Given the description of an element on the screen output the (x, y) to click on. 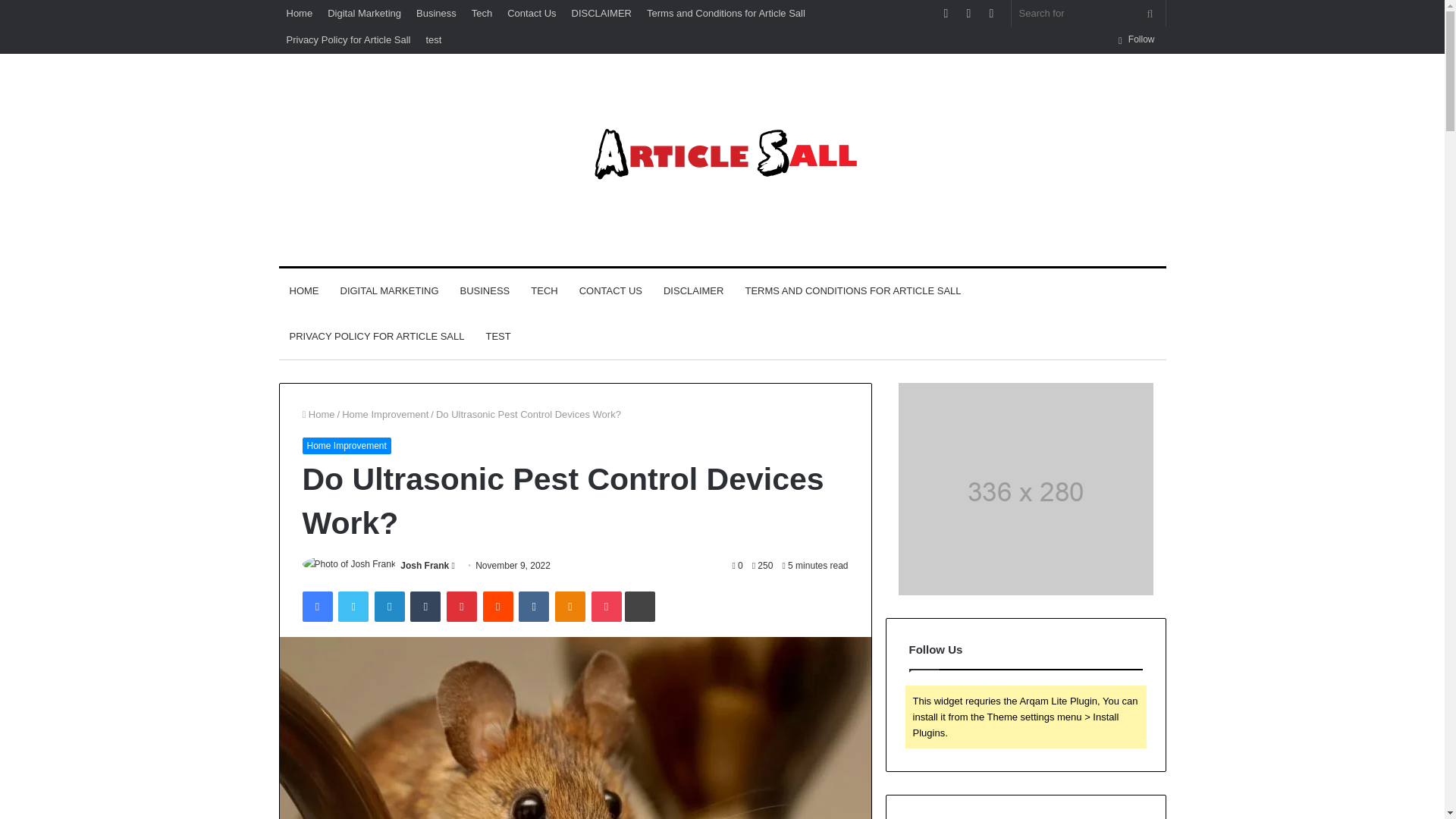
TECH (543, 290)
CONTACT US (610, 290)
Twitter (352, 606)
PRIVACY POLICY FOR ARTICLE SALL (377, 336)
TERMS AND CONDITIONS FOR ARTICLE SALL (852, 290)
Home (299, 13)
Home (317, 414)
Facebook (316, 606)
Home Improvement (345, 445)
DISCLAIMER (601, 13)
Contact Us (531, 13)
Tumblr (425, 606)
Pinterest (461, 606)
Search for (1088, 13)
Follow (1136, 39)
